Given the description of an element on the screen output the (x, y) to click on. 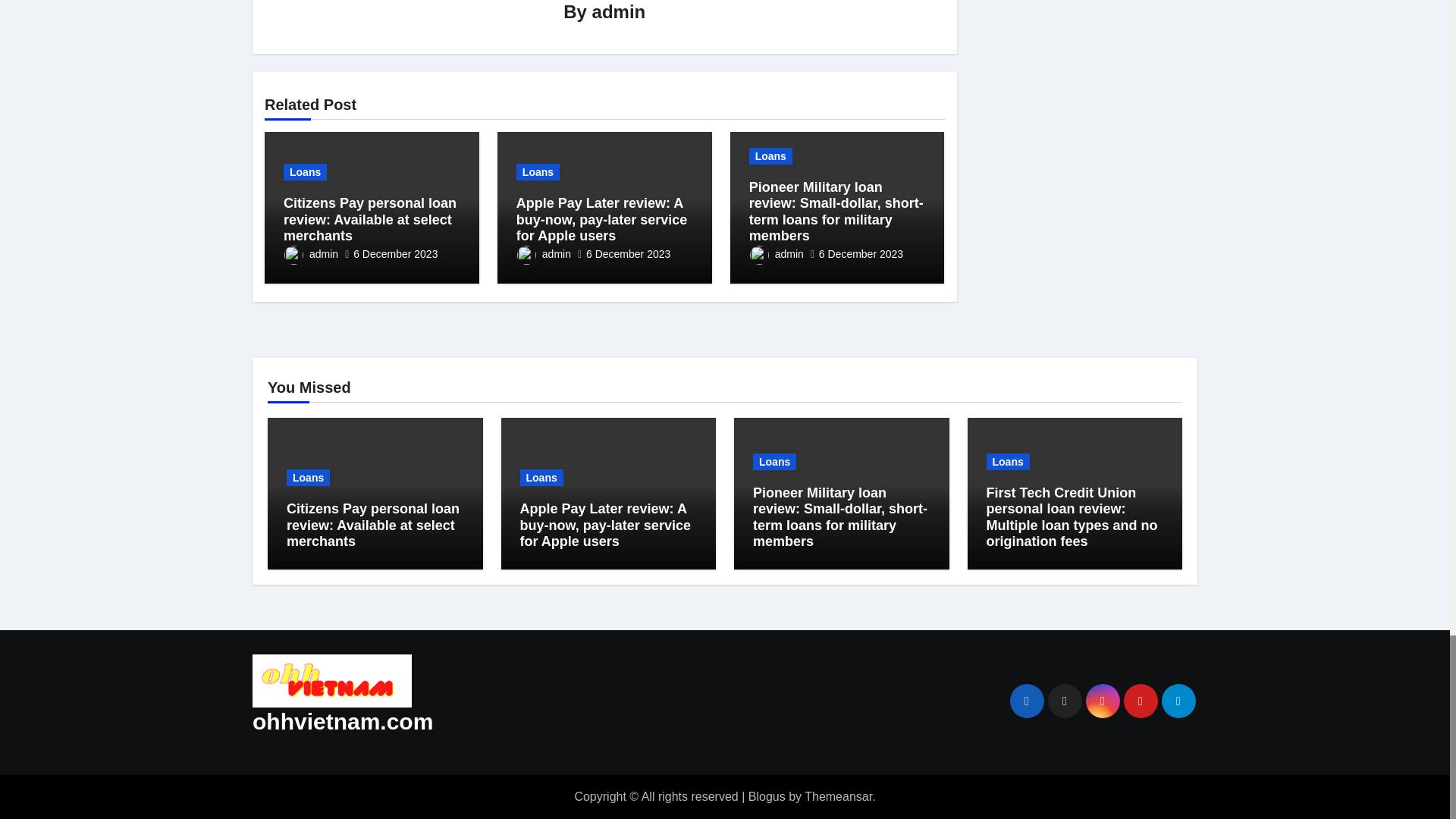
Loans (304, 171)
admin (619, 11)
